Given the description of an element on the screen output the (x, y) to click on. 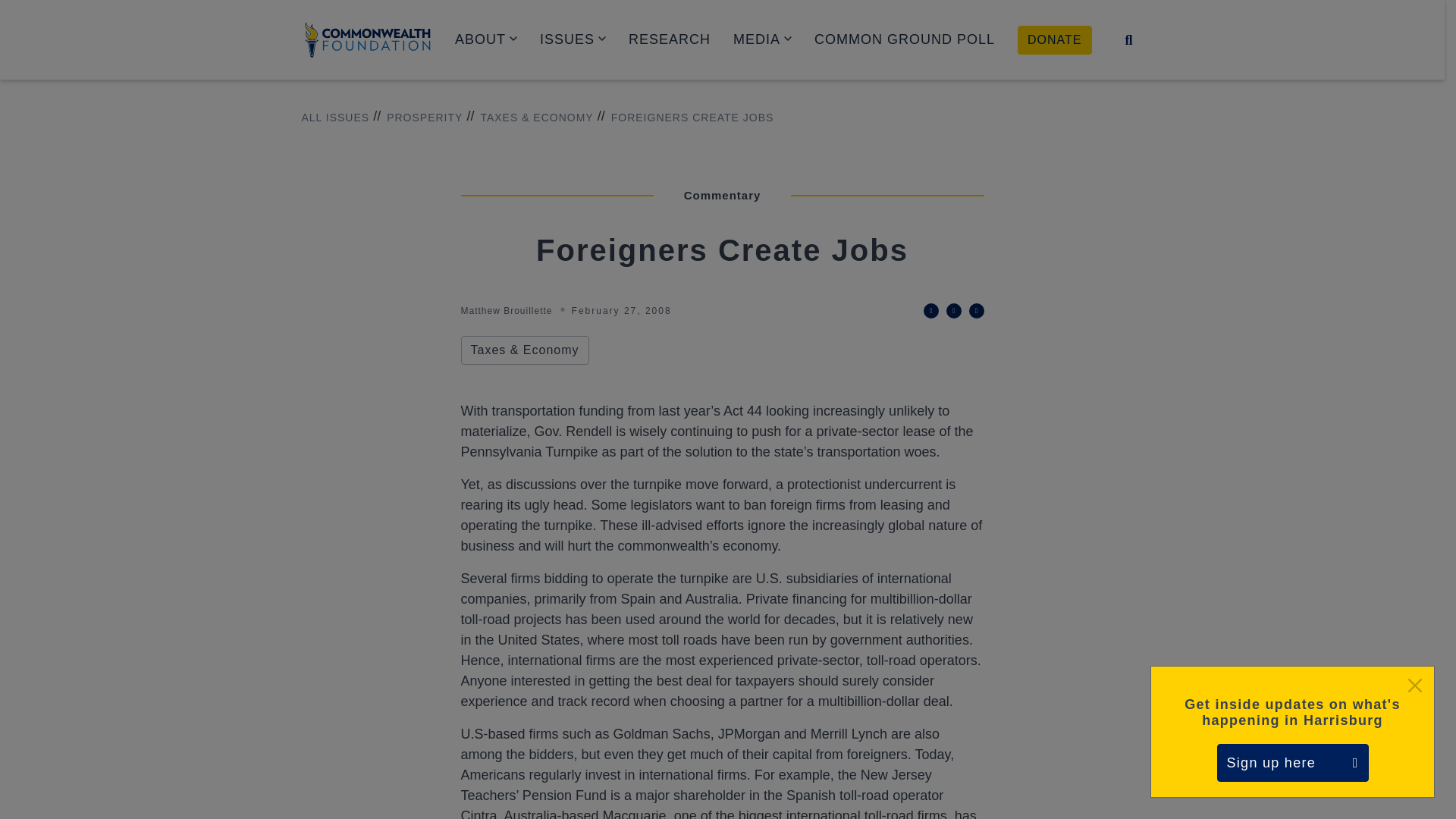
ABOUT (485, 39)
Twitter (931, 310)
FOREIGNERS CREATE JOBS (685, 117)
Search (1128, 39)
ALL ISSUES (335, 117)
ISSUES (572, 39)
MEDIA (762, 39)
RESEARCH (669, 39)
Email (976, 310)
PROSPERITY (417, 117)
